Given the description of an element on the screen output the (x, y) to click on. 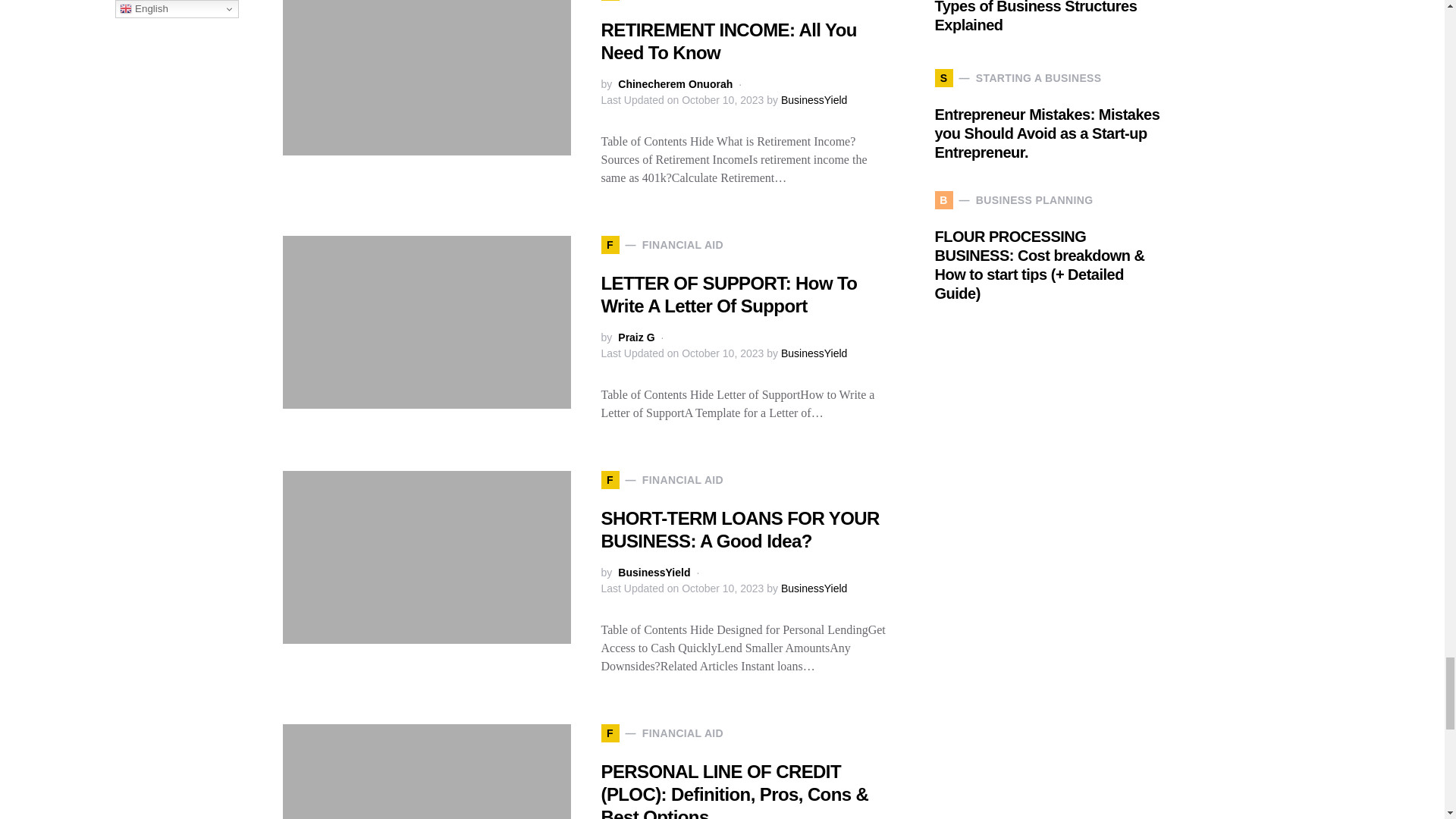
View all posts by Chinecherem Onuorah (674, 84)
View all posts by BusinessYield (653, 572)
View all posts by Praiz G (635, 337)
